Given the description of an element on the screen output the (x, y) to click on. 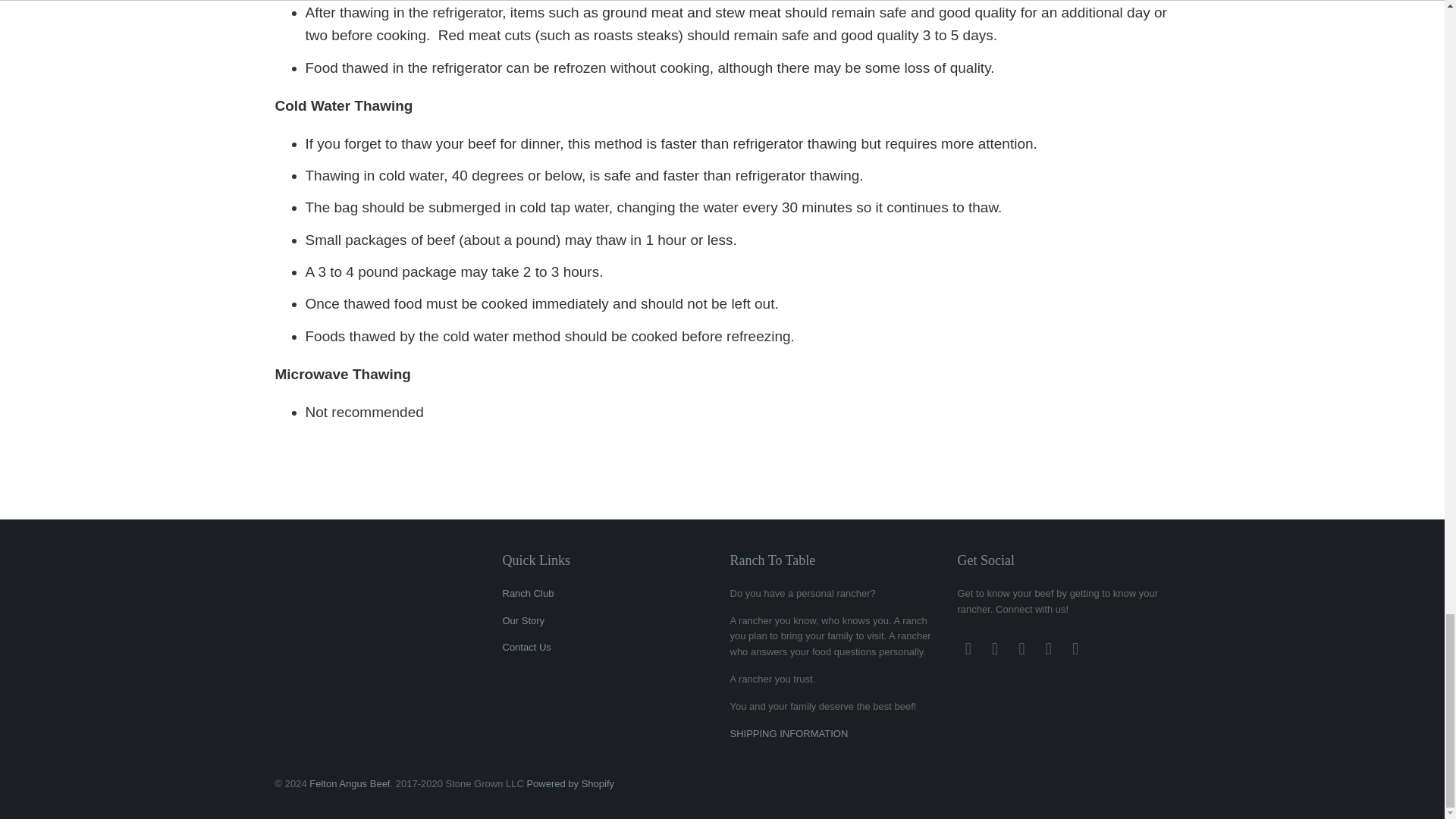
Felton Angus Beef on Instagram (1047, 648)
SHIPPING INFORMATION (788, 733)
Email Felton Angus Beef (1075, 648)
Ranch Club (527, 593)
Our Story (523, 620)
Felton Angus Beef on Facebook (967, 648)
Felton Angus Beef on YouTube (995, 648)
Felton Angus Beef on Pinterest (1021, 648)
